Given the description of an element on the screen output the (x, y) to click on. 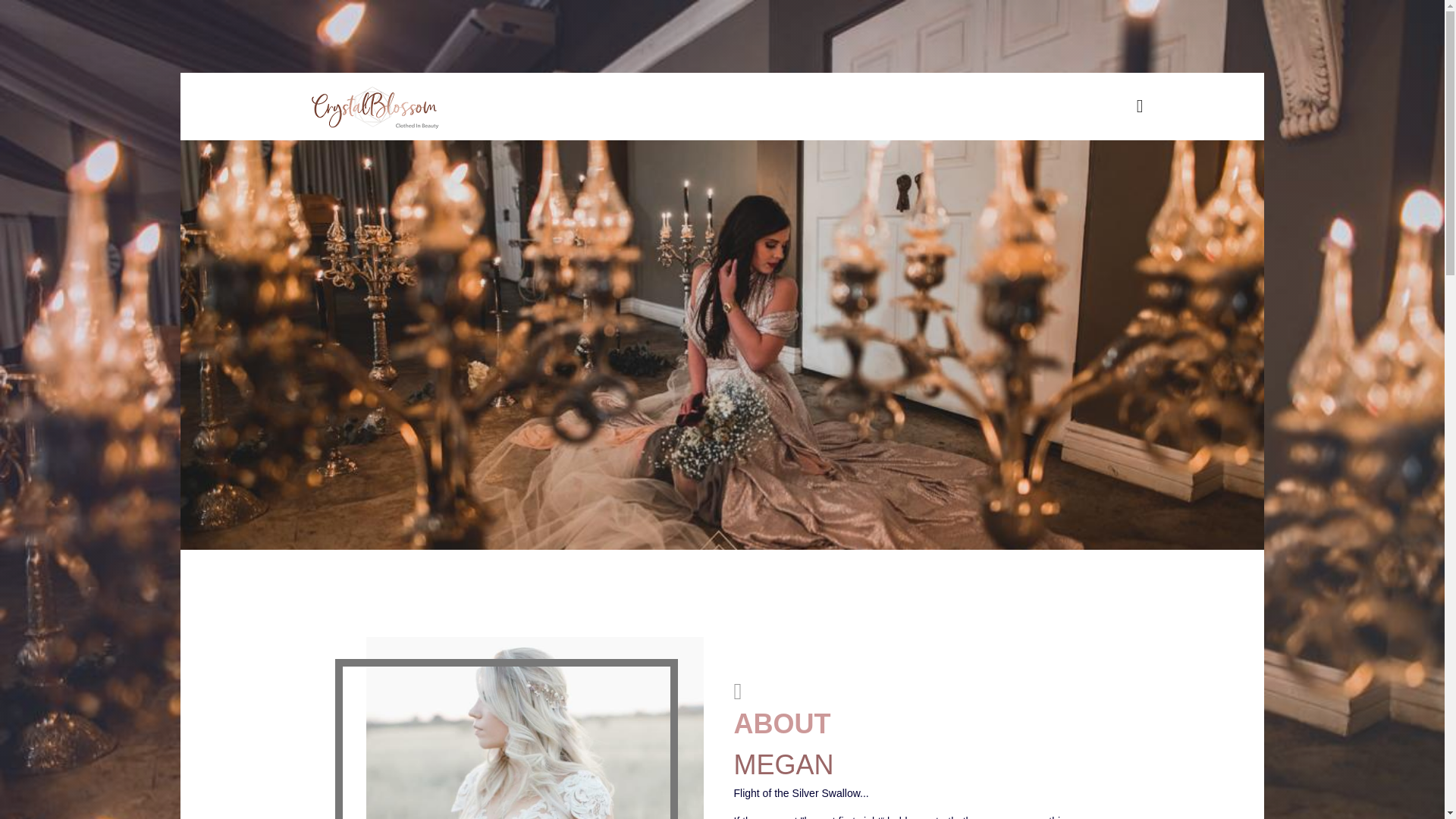
HOME (1122, 139)
CONTACT (1130, 139)
GALLERY (1129, 139)
